Given the description of an element on the screen output the (x, y) to click on. 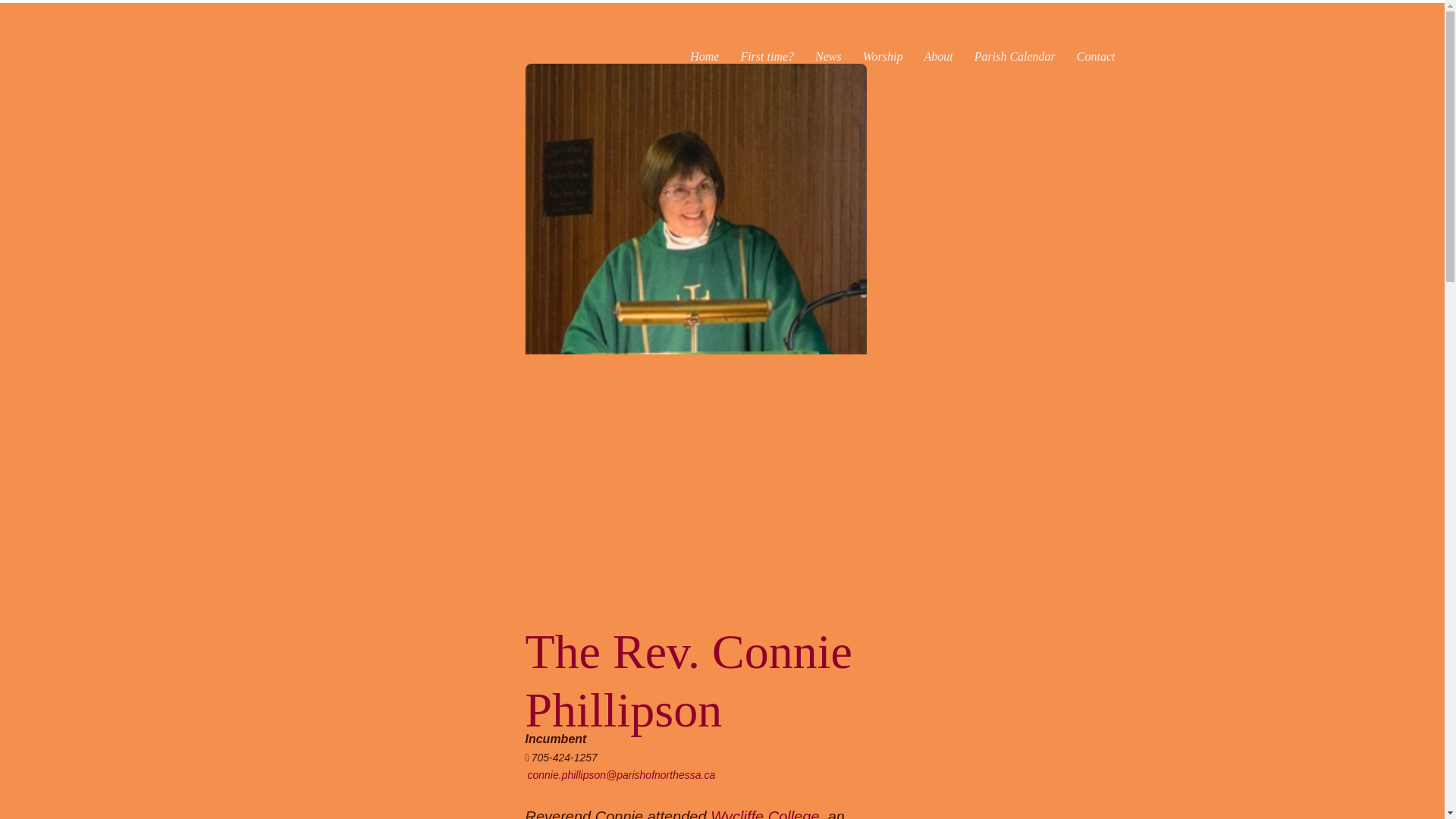
Wycliffe College (764, 813)
Parish of North Essa (373, 56)
First time? (766, 56)
Contact (1095, 56)
Home (704, 56)
Parish Calendar (1014, 56)
Worship (882, 56)
About (937, 56)
News (828, 56)
